Given the description of an element on the screen output the (x, y) to click on. 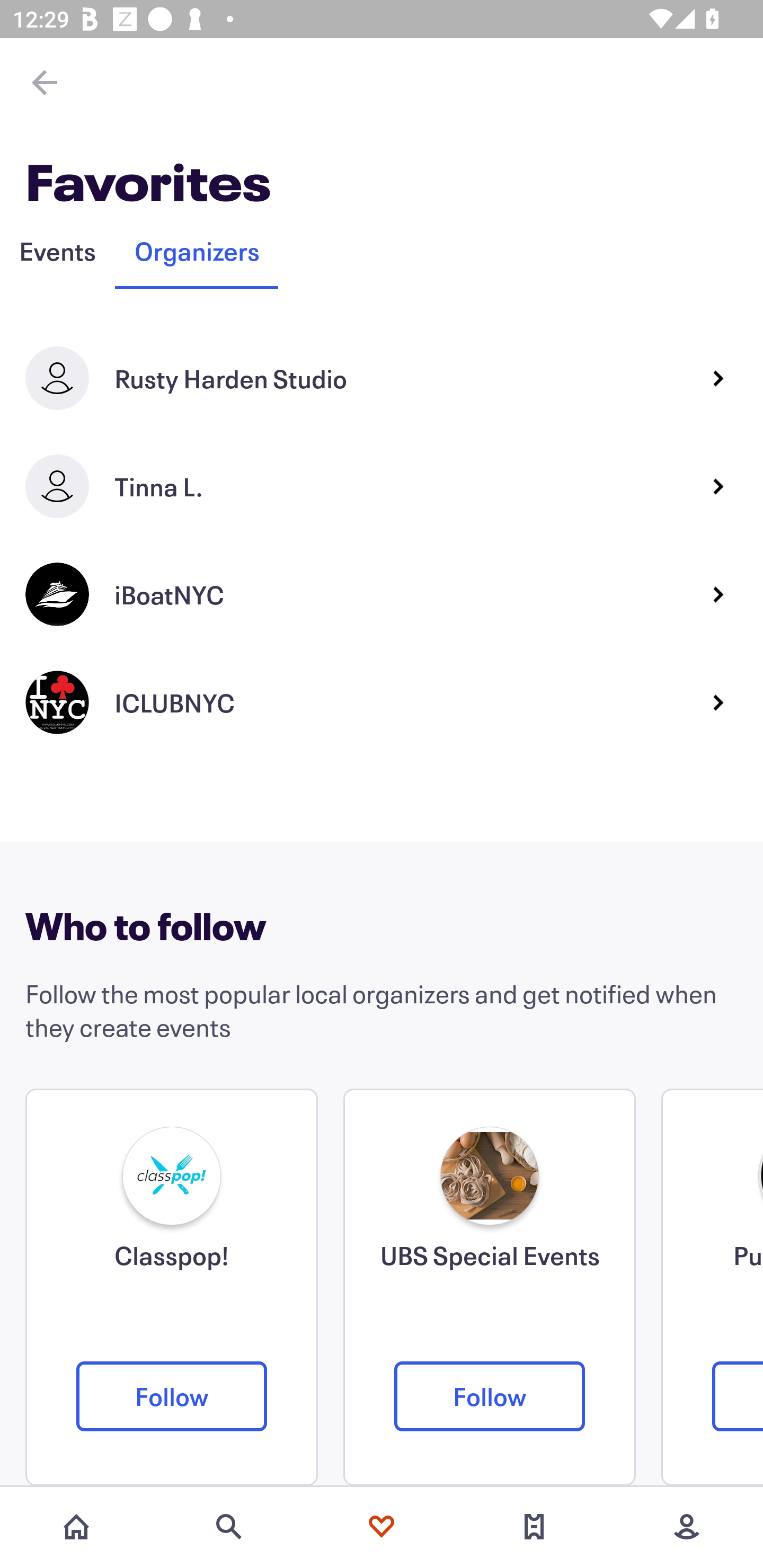
Navigate up (44, 82)
Events (57, 250)
Organizer logo Rusty Harden Studio (381, 381)
Organizer logo Tinna L. (381, 489)
Organizer logo iBoatNYC (381, 598)
Organizer logo ICLUBNYC (381, 705)
Classpop! Follow (171, 1287)
UBS Special Events Follow (489, 1287)
Follow (171, 1396)
Follow (489, 1396)
Home (76, 1526)
Search events (228, 1526)
Favorites (381, 1526)
Tickets (533, 1526)
More (686, 1526)
